Given the description of an element on the screen output the (x, y) to click on. 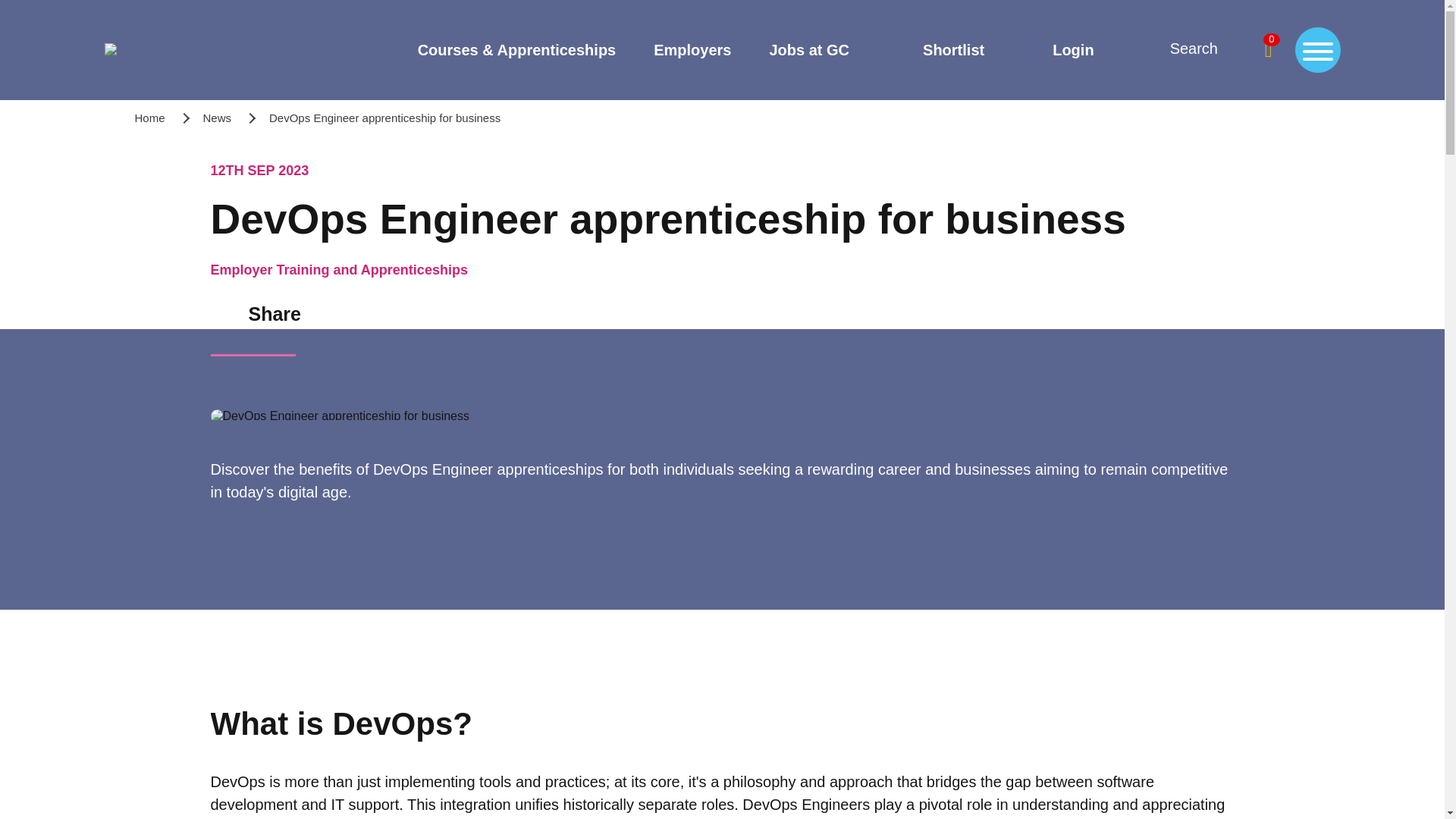
Shortlist (935, 49)
Go to home page (196, 49)
Click here for the Employers section at GC (691, 49)
Login (1057, 49)
Jobs at GC (808, 49)
Click here to find out more and apply for Jobs at GC (808, 49)
log in or create an account (1057, 49)
Employers (691, 49)
